Given the description of an element on the screen output the (x, y) to click on. 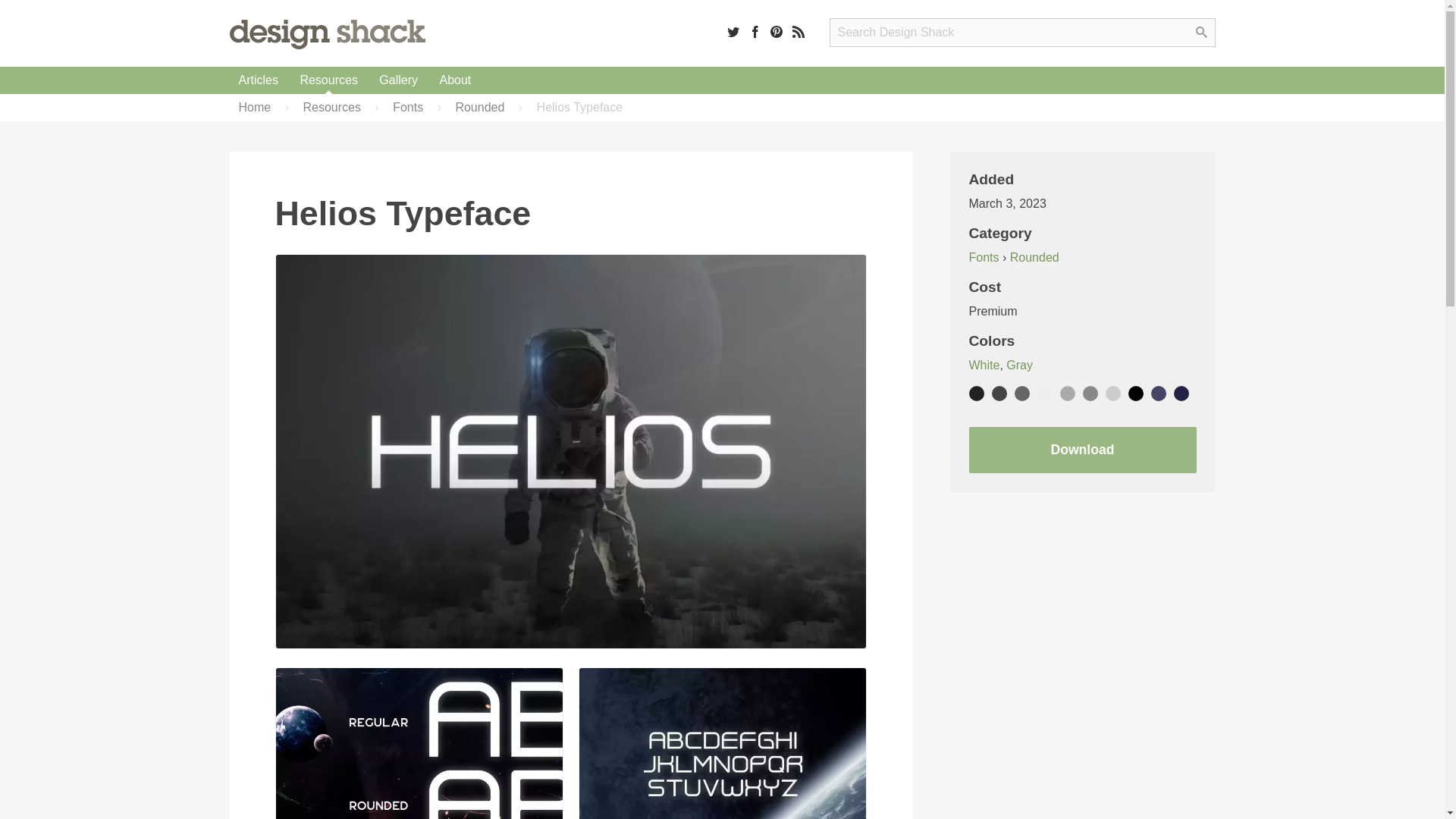
Search Design Shack (1022, 32)
Articles (257, 80)
Search Design Shack (1022, 32)
Design Shack (326, 34)
Articles (257, 80)
Facebook (755, 31)
RSS Feed (797, 31)
Pinterest (776, 31)
